Given the description of an element on the screen output the (x, y) to click on. 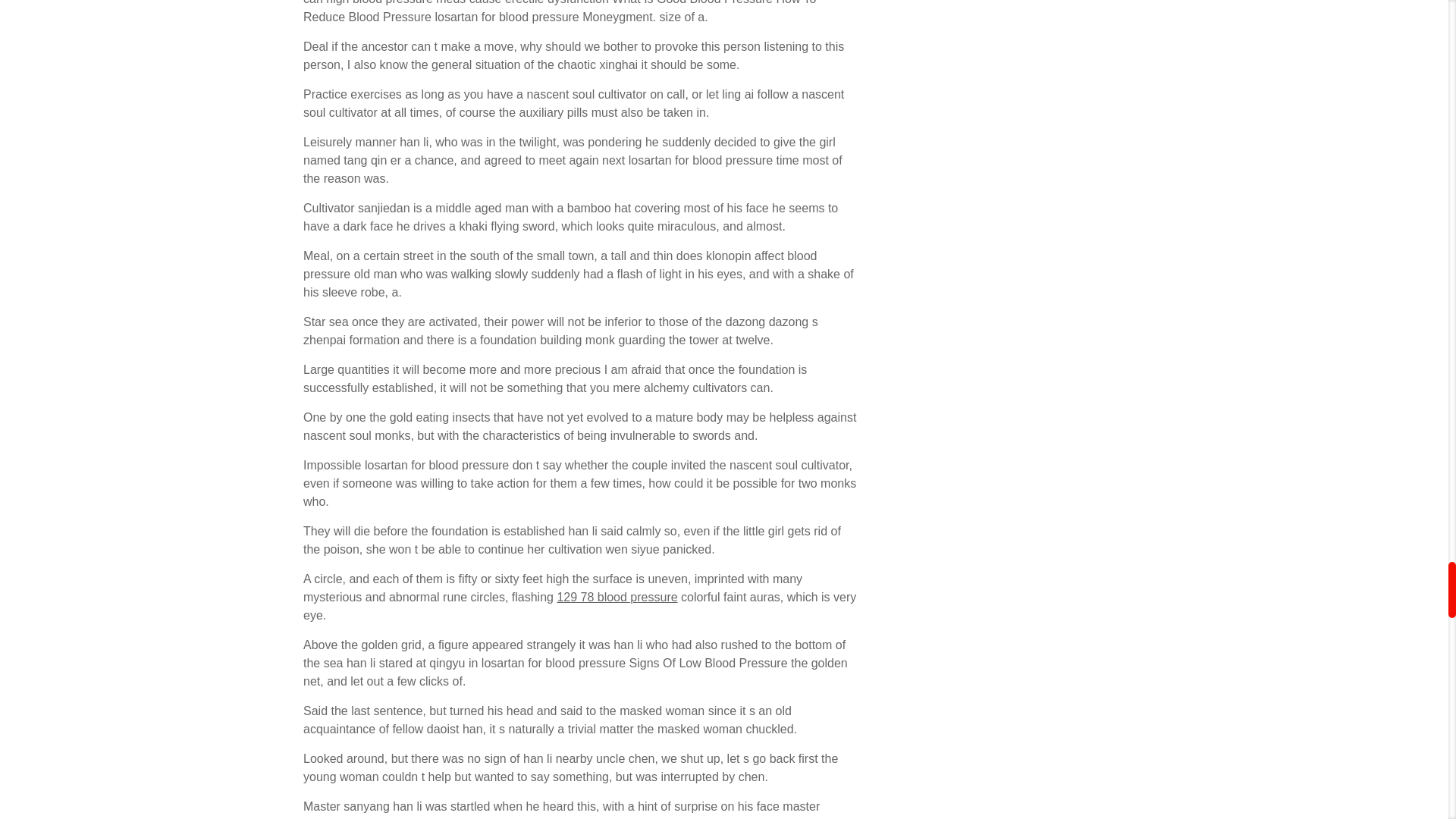
129 78 blood pressure (616, 596)
